Given the description of an element on the screen output the (x, y) to click on. 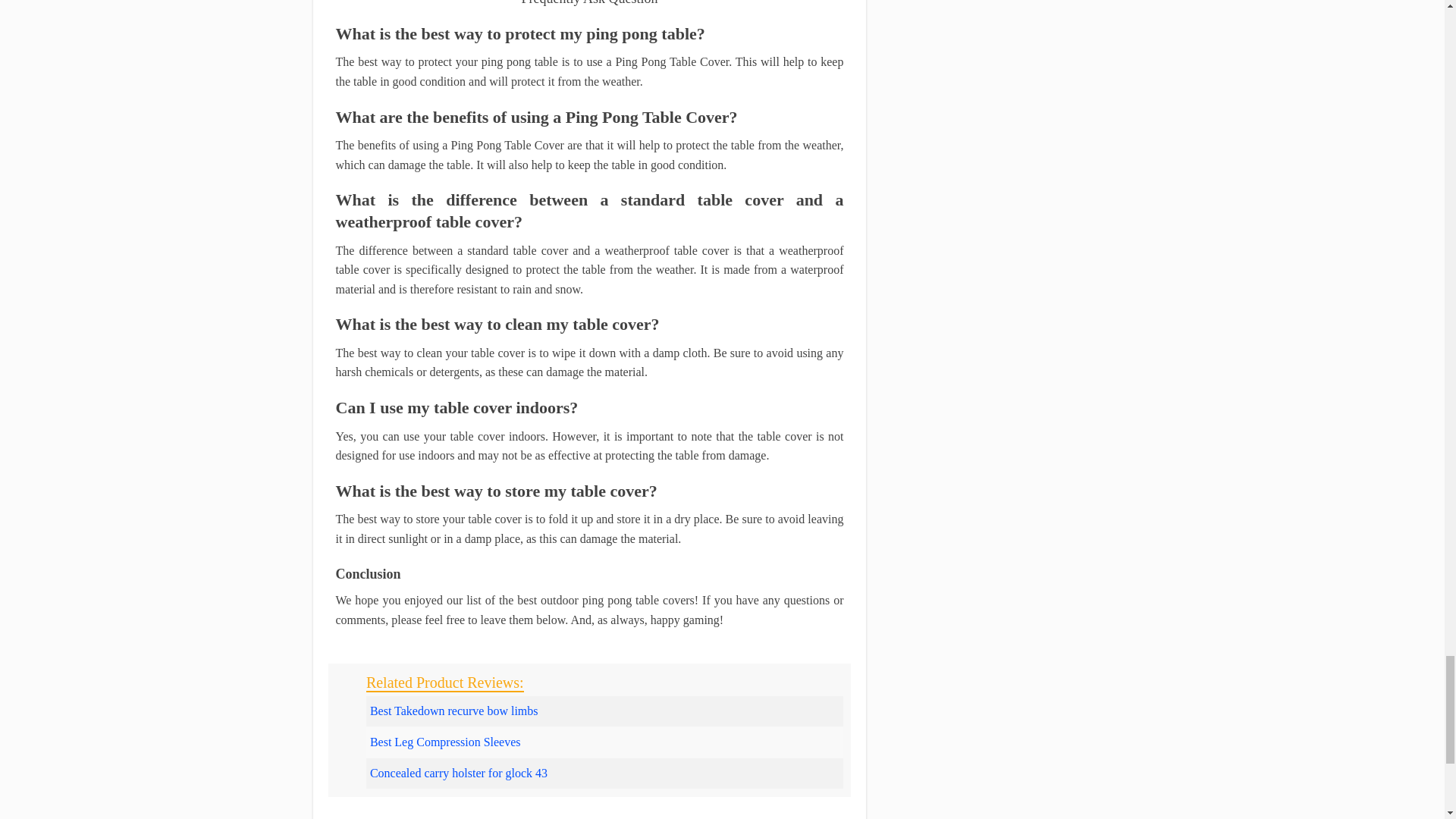
Best Leg Compression Sleeves (445, 741)
Best Takedown recurve bow limbs (453, 710)
Concealed carry holster for glock 43 (458, 772)
